Given the description of an element on the screen output the (x, y) to click on. 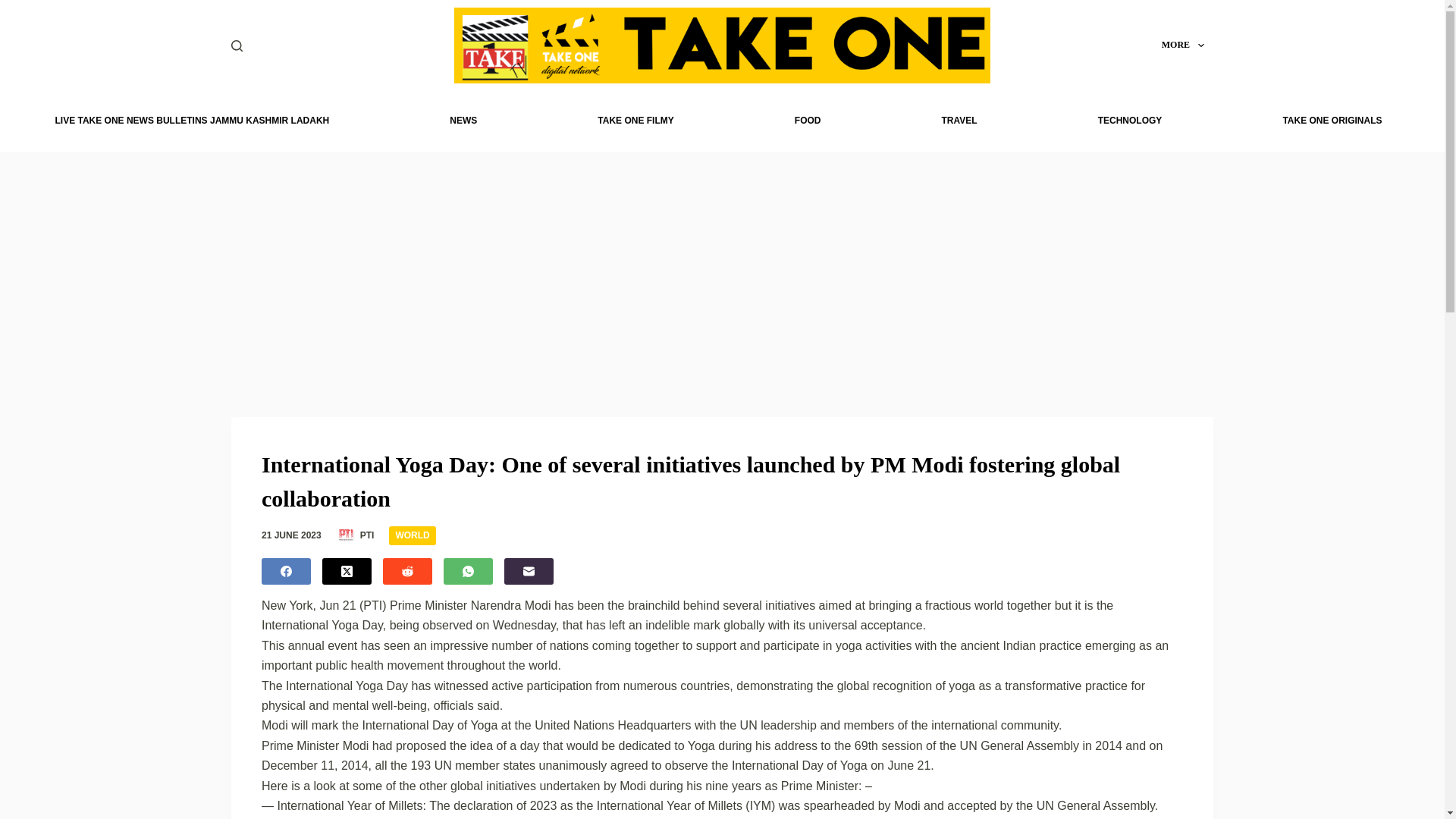
Skip to content (15, 7)
Posts by PTI (366, 534)
